Given the description of an element on the screen output the (x, y) to click on. 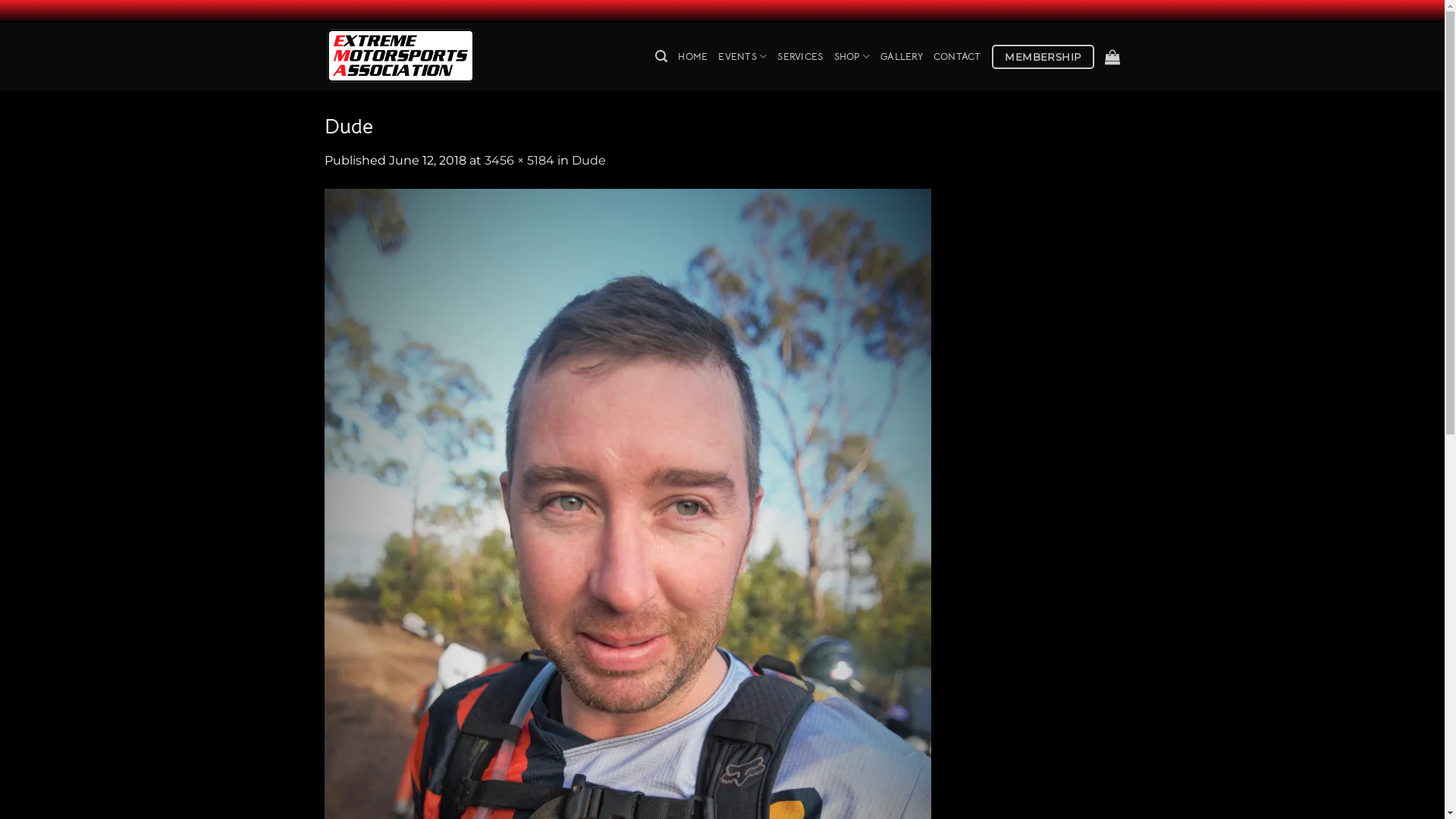
CONTACT Element type: text (957, 56)
HOME Element type: text (692, 56)
MEMBERSHIP Element type: text (1043, 56)
Basket Element type: hover (1112, 56)
SERVICES Element type: text (799, 56)
EVENTS Element type: text (742, 56)
Dude Element type: hover (627, 642)
GALLERY Element type: text (901, 56)
SHOP Element type: text (851, 56)
Dude Element type: text (588, 160)
